Given the description of an element on the screen output the (x, y) to click on. 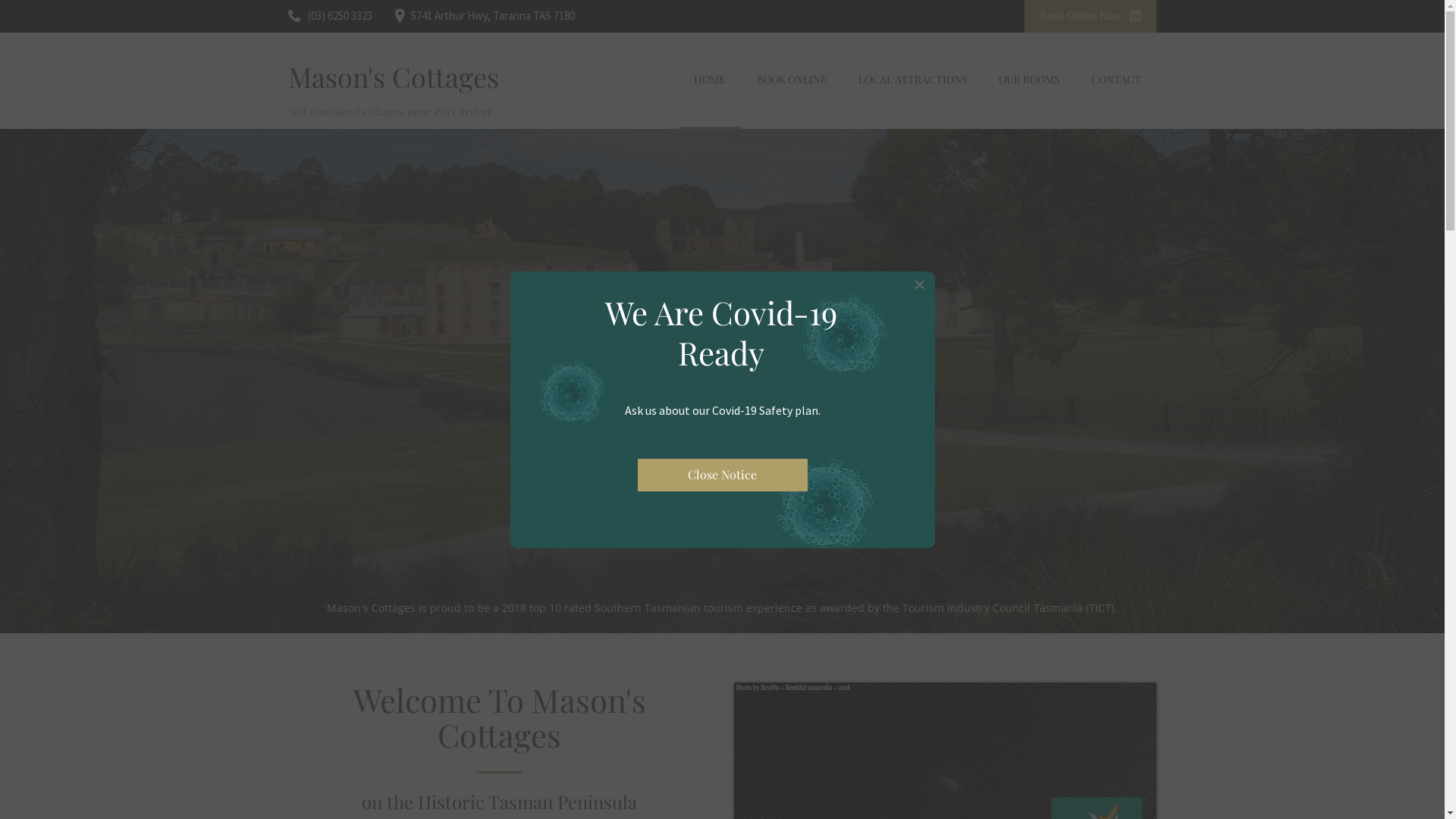
Mason's Cottages Element type: text (393, 76)
HOME Element type: text (709, 80)
View Rooms Element type: text (641, 459)
CONTACT Element type: text (1116, 80)
BOOK ONLINE Element type: text (792, 80)
Local Attractions Element type: text (791, 459)
LOCAL ATTRACTIONS Element type: text (913, 80)
Book Online Now Element type: text (1090, 16)
Close Notice Element type: text (721, 474)
OUR ROOMS Element type: text (1029, 80)
